Given the description of an element on the screen output the (x, y) to click on. 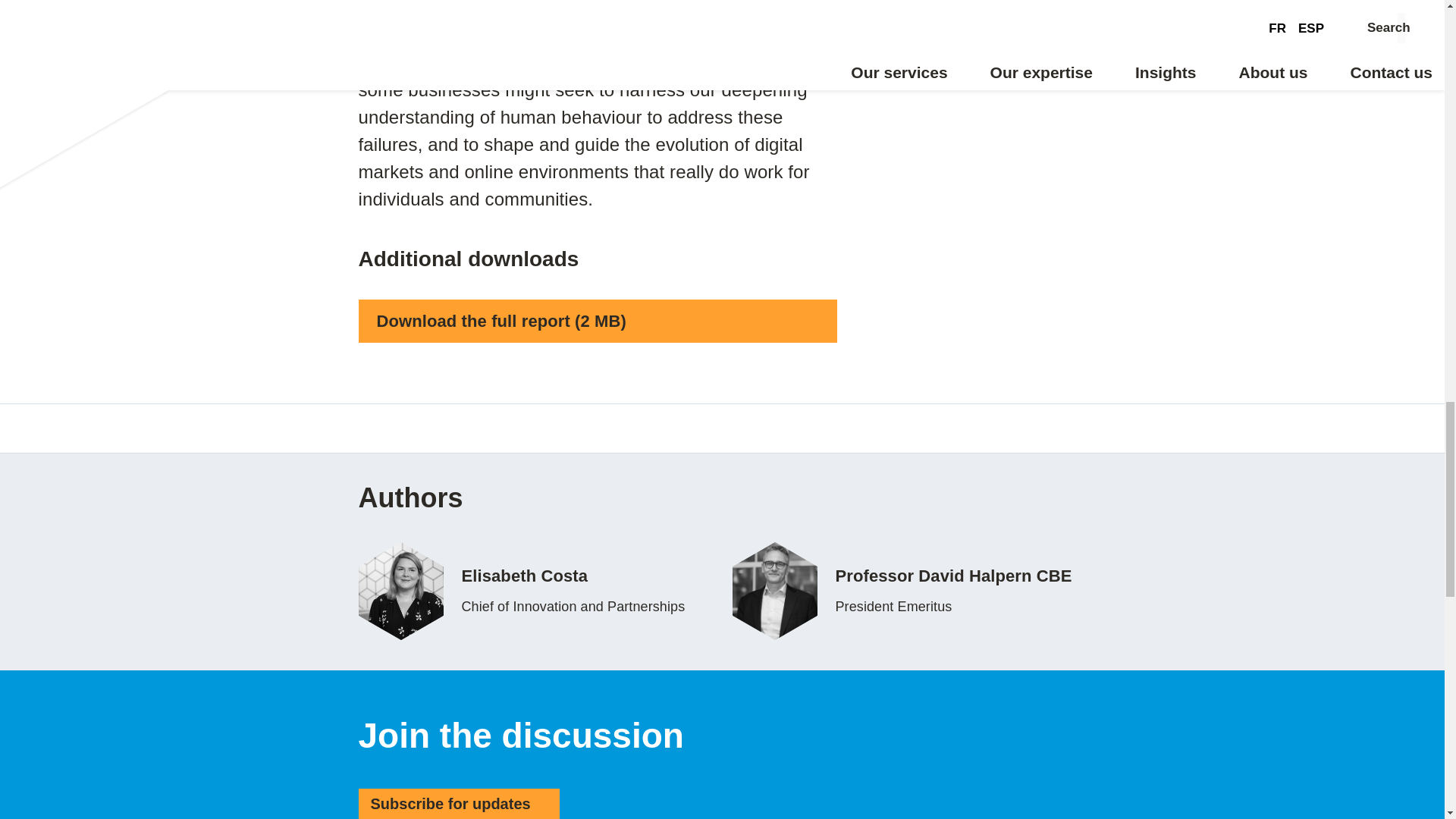
Professor David Halpern CBE (909, 590)
Share on LinkedIn (435, 427)
Elisabeth Costa (534, 590)
Share via Email (534, 590)
Share on Twitter (473, 427)
Download Download the full report (365, 427)
